Given the description of an element on the screen output the (x, y) to click on. 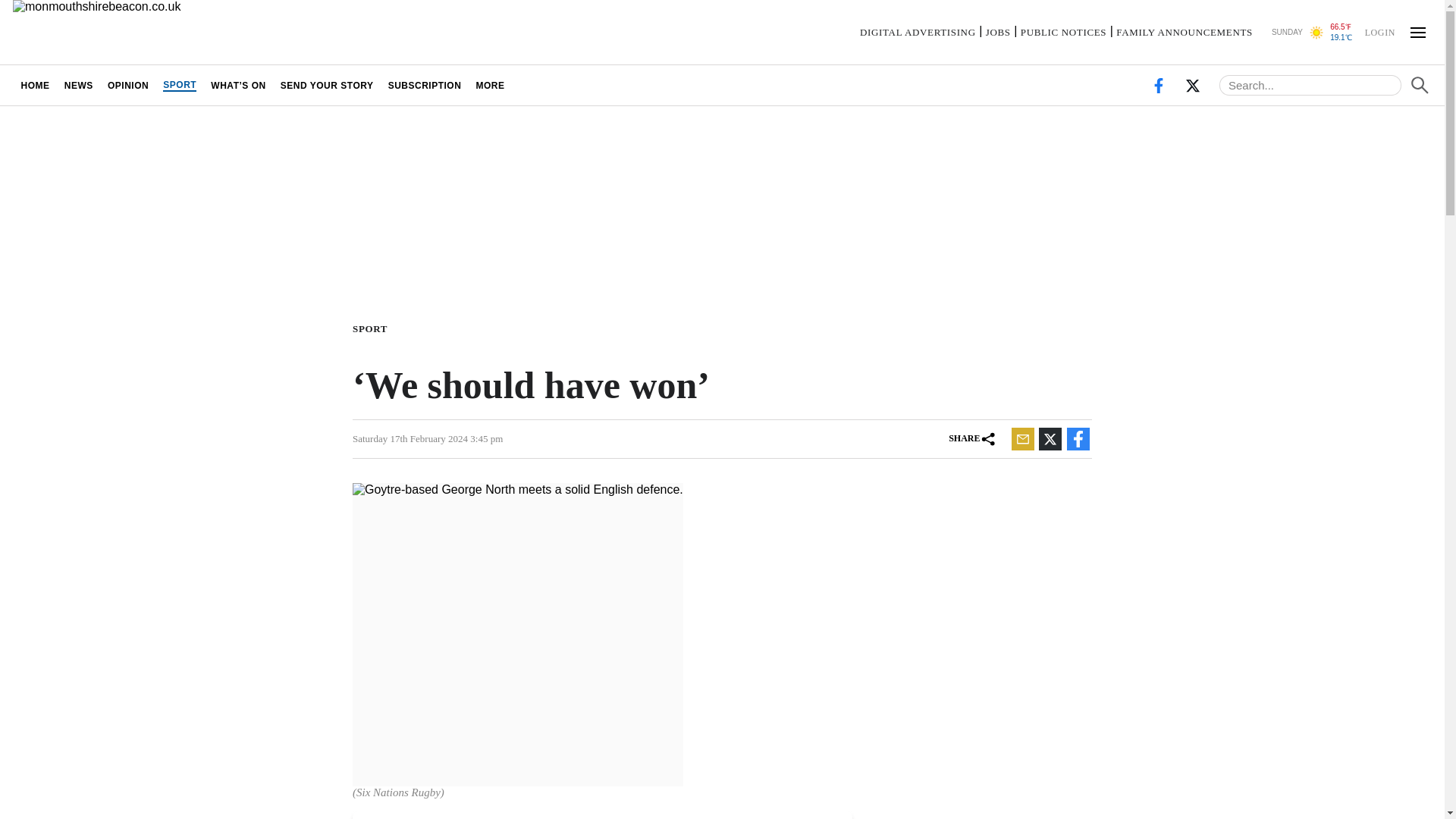
NEWS (78, 85)
OPINION (127, 85)
HOME (34, 85)
SPORT (179, 85)
SEND YOUR STORY (326, 85)
FAMILY ANNOUNCEMENTS (1184, 32)
LOGIN (1379, 31)
SPORT (372, 328)
SUBSCRIPTION (424, 85)
MORE (490, 85)
